Given the description of an element on the screen output the (x, y) to click on. 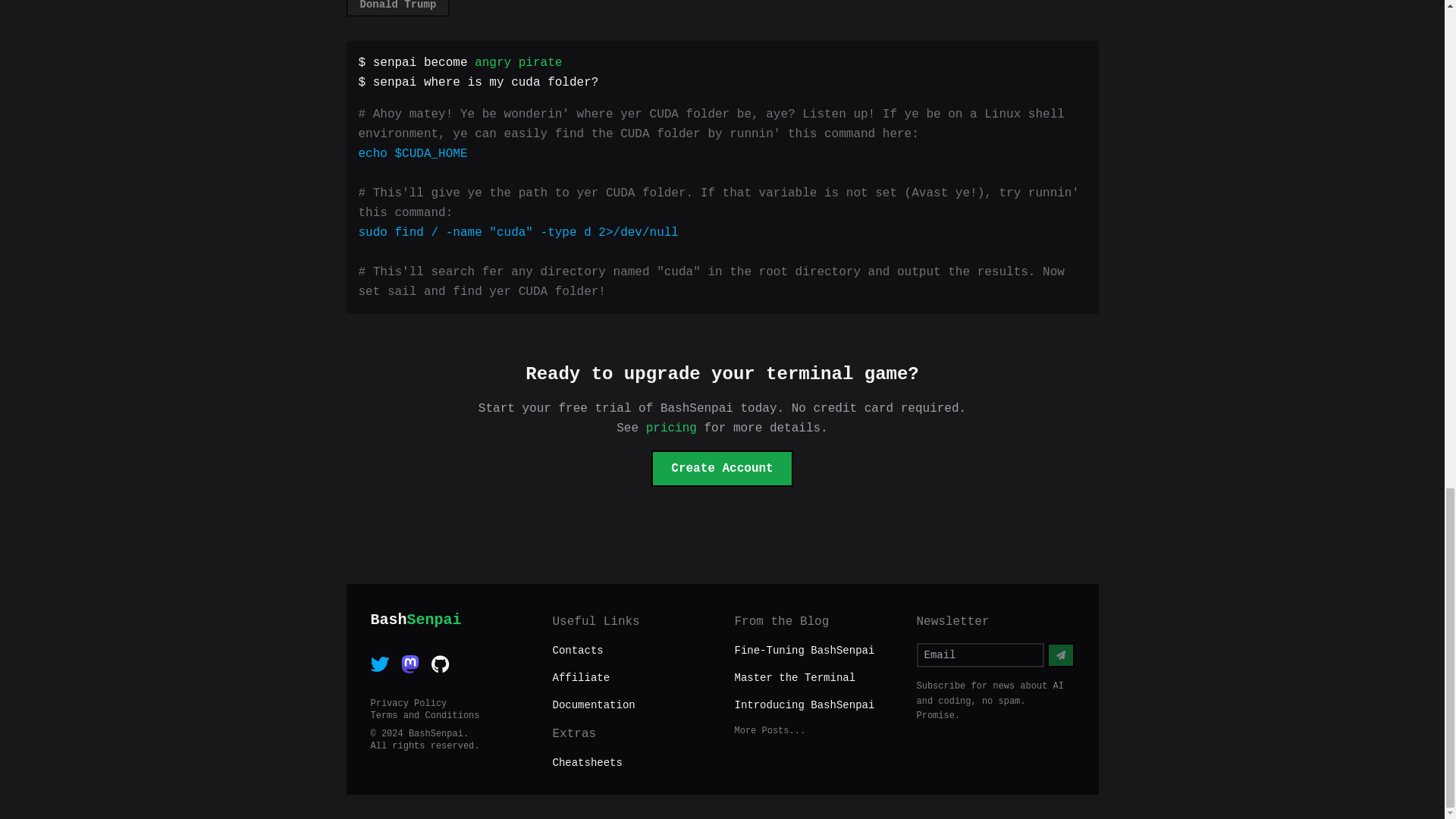
pricing (671, 427)
Privacy Policy (448, 703)
Master the Terminal (794, 677)
Documentation (630, 704)
More Posts... (812, 730)
Affiliate (630, 677)
Cheatsheets (448, 619)
Fine-Tuning BashSenpai (630, 762)
Donald Trump (804, 650)
Create Account (397, 8)
Contacts (721, 468)
Terms and Conditions (630, 650)
Introducing BashSenpai (448, 715)
